Given the description of an element on the screen output the (x, y) to click on. 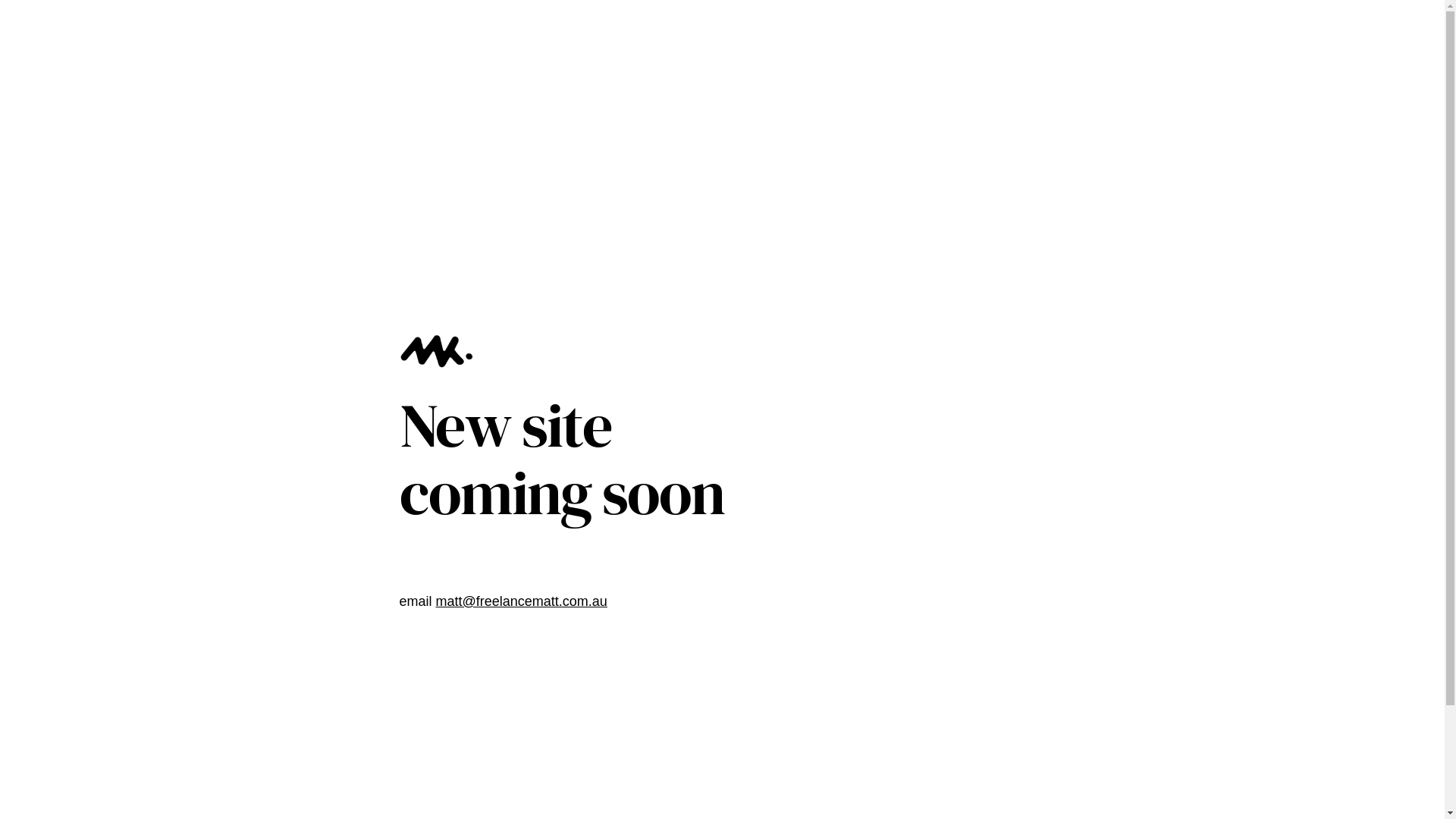
matt@freelancematt.com.au Element type: text (521, 600)
